Given the description of an element on the screen output the (x, y) to click on. 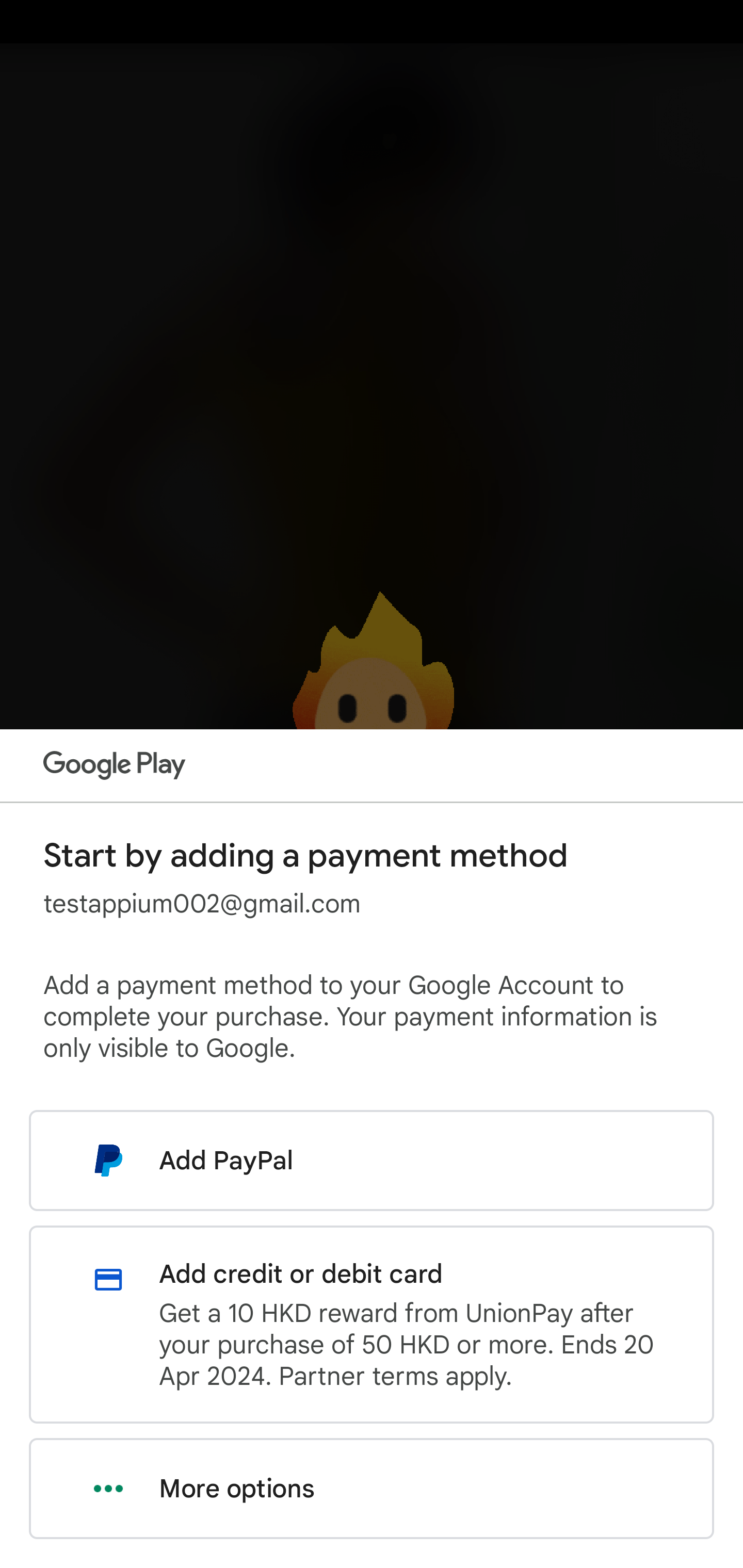
Add PayPal (371, 1160)
More options (371, 1488)
